Given the description of an element on the screen output the (x, y) to click on. 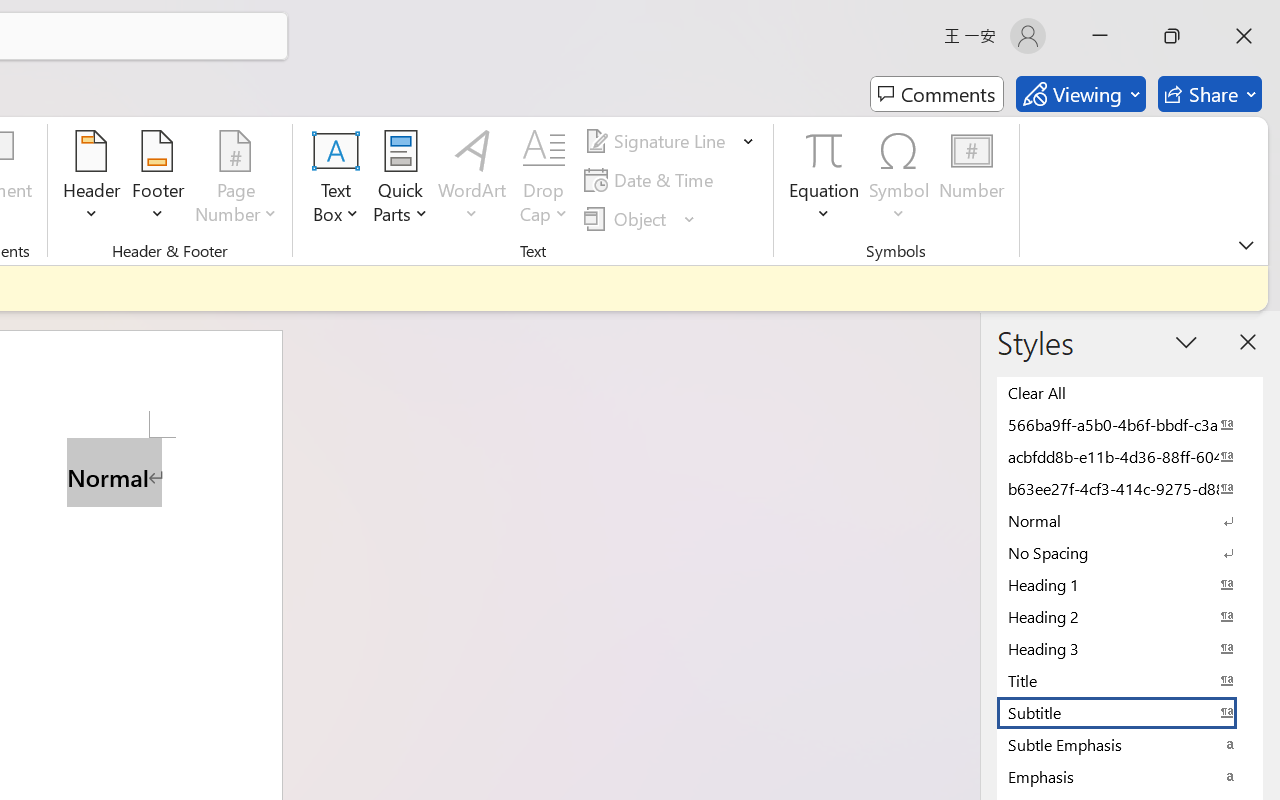
Equation (823, 150)
Header (92, 179)
Footer (157, 179)
Object... (628, 218)
Equation (823, 179)
Subtitle (1130, 712)
Normal (1130, 520)
566ba9ff-a5b0-4b6f-bbdf-c3ab41993fc2 (1130, 424)
Signature Line (669, 141)
Ribbon Display Options (1246, 245)
b63ee27f-4cf3-414c-9275-d88e3f90795e (1130, 488)
